Given the description of an element on the screen output the (x, y) to click on. 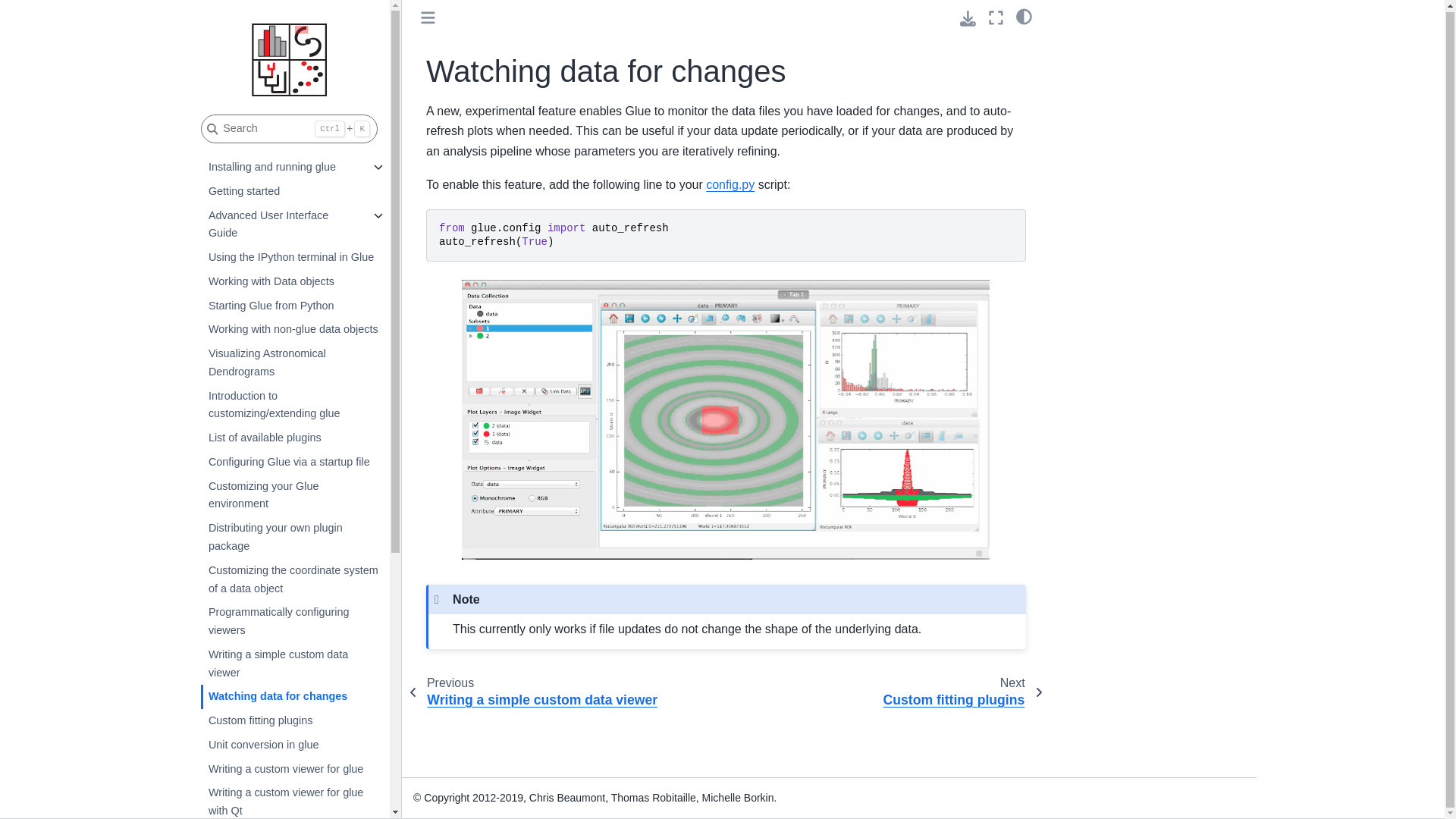
Unit conversion in glue (293, 745)
Customizing your Glue environment (293, 495)
List of available plugins (293, 437)
Writing a custom viewer for glue (293, 769)
Customizing the coordinate system of a data object (293, 579)
Watching data for changes (293, 696)
Writing a simple custom data viewer (293, 663)
Using the IPython terminal in Glue (293, 257)
Configuring Glue via a startup file (293, 462)
previous page (538, 692)
Starting Glue from Python (293, 306)
Installing and running glue (282, 167)
Visualizing Astronomical Dendrograms (293, 363)
Working with Data objects (293, 282)
Custom fitting plugins (293, 721)
